Given the description of an element on the screen output the (x, y) to click on. 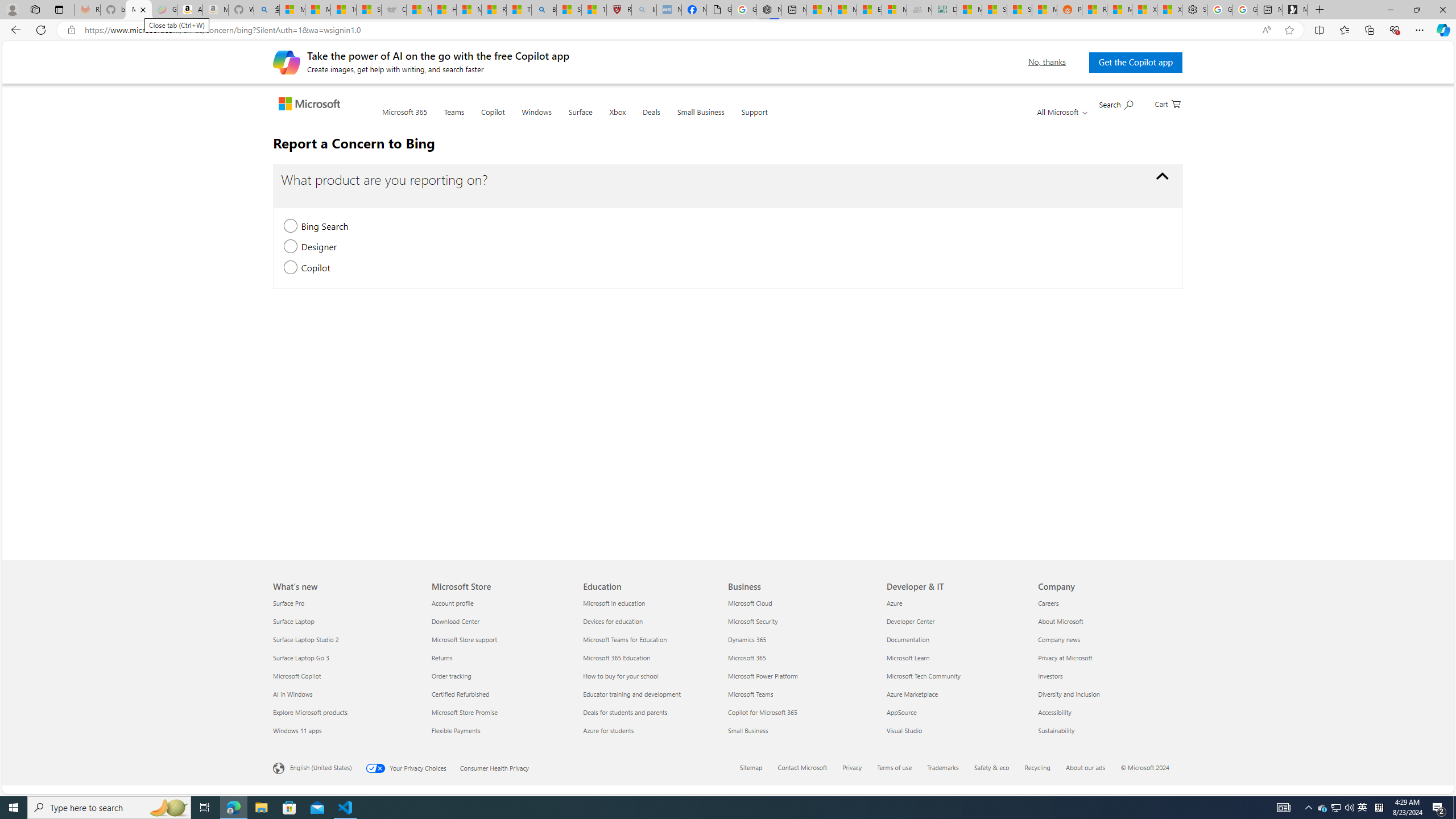
No, thanks (1046, 61)
Contact Microsoft (802, 766)
Contact Microsoft (809, 768)
About Microsoft (1107, 620)
Azure Marketplace Developer & IT (912, 693)
Support (753, 118)
Microsoft (311, 105)
Small Business (800, 730)
How to buy for your school (651, 675)
Surface Laptop What's new (293, 620)
Copilot for Microsoft 365 (800, 711)
